Given the description of an element on the screen output the (x, y) to click on. 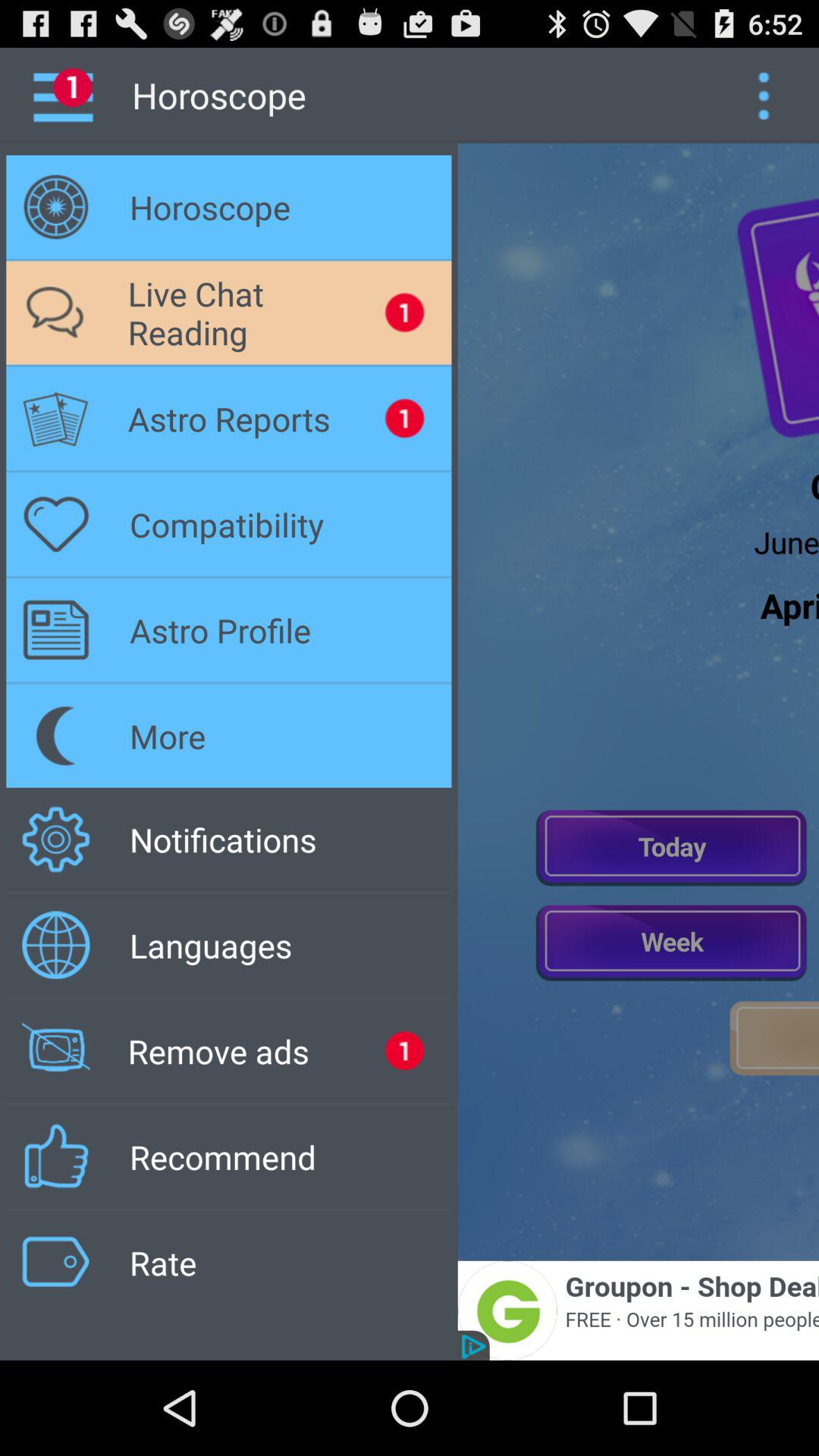
go to today chat (671, 845)
